Given the description of an element on the screen output the (x, y) to click on. 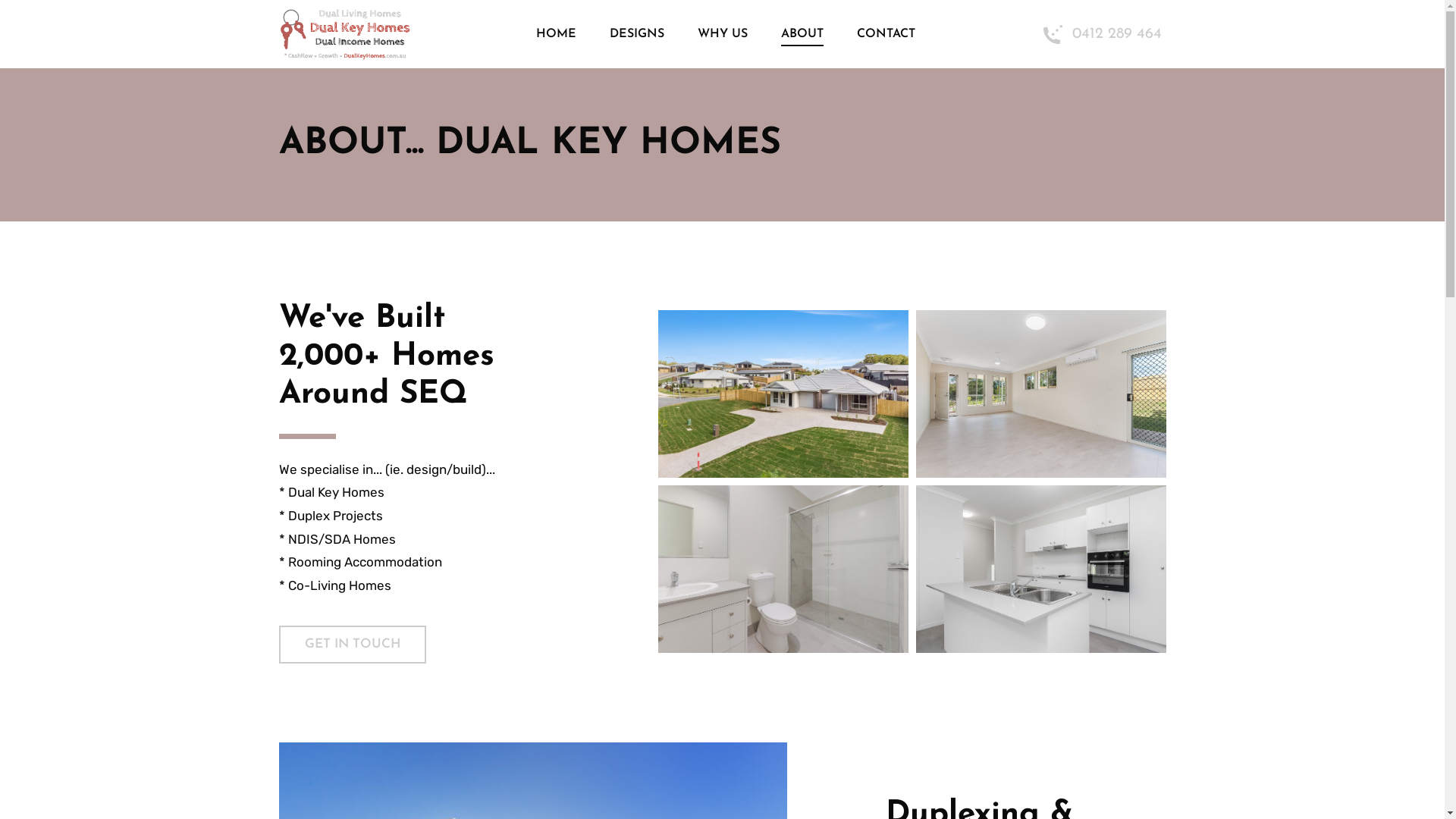
DESIGNS Element type: text (636, 33)
WHY US Element type: text (722, 33)
0412 289 464 Element type: text (1102, 33)
HOME Element type: text (556, 33)
GET IN TOUCH Element type: text (352, 643)
CONTACT Element type: text (886, 33)
ABOUT Element type: text (802, 33)
